Given the description of an element on the screen output the (x, y) to click on. 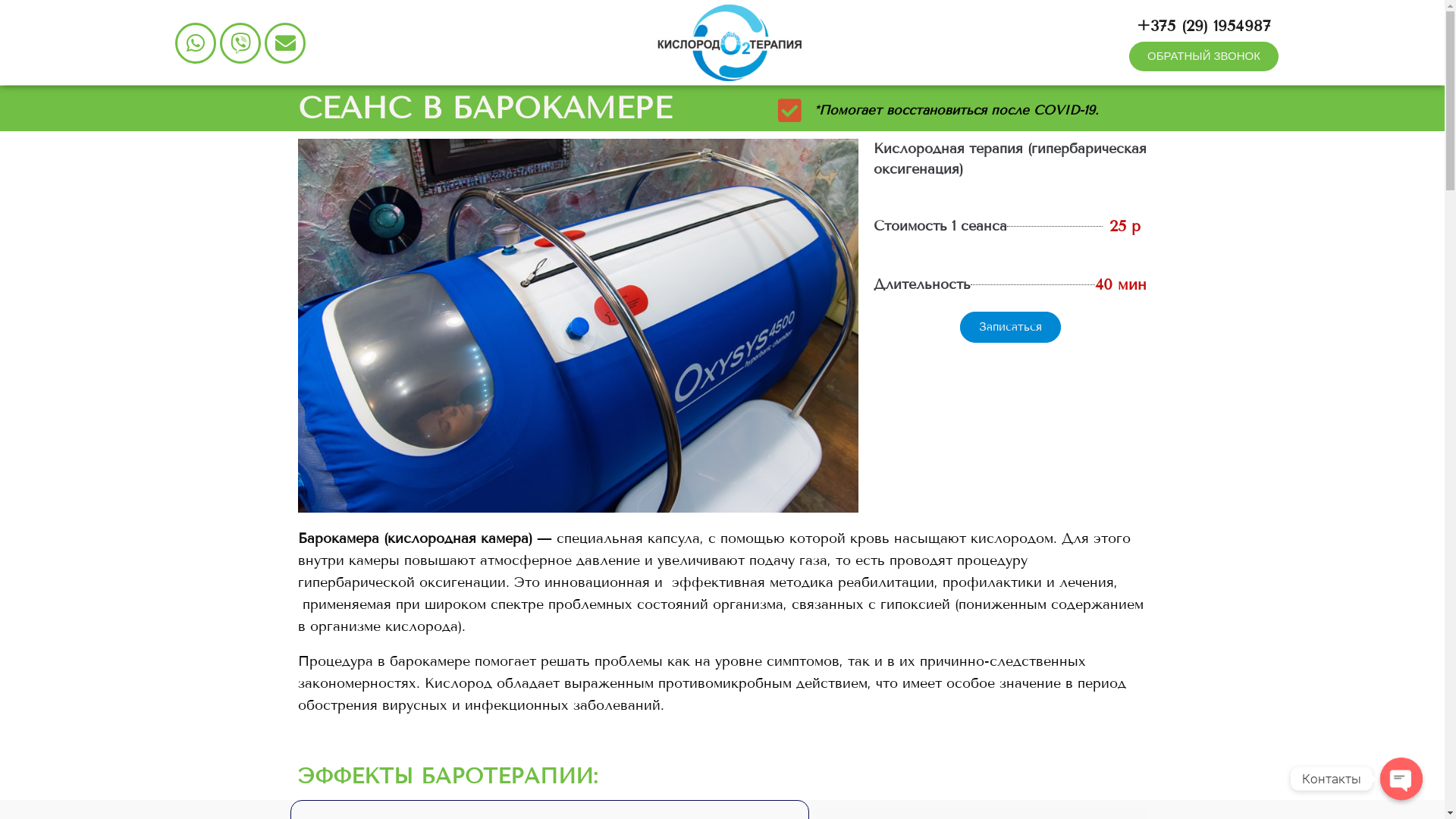
+375 (29) 1954987 Element type: text (1203, 25)
